Given the description of an element on the screen output the (x, y) to click on. 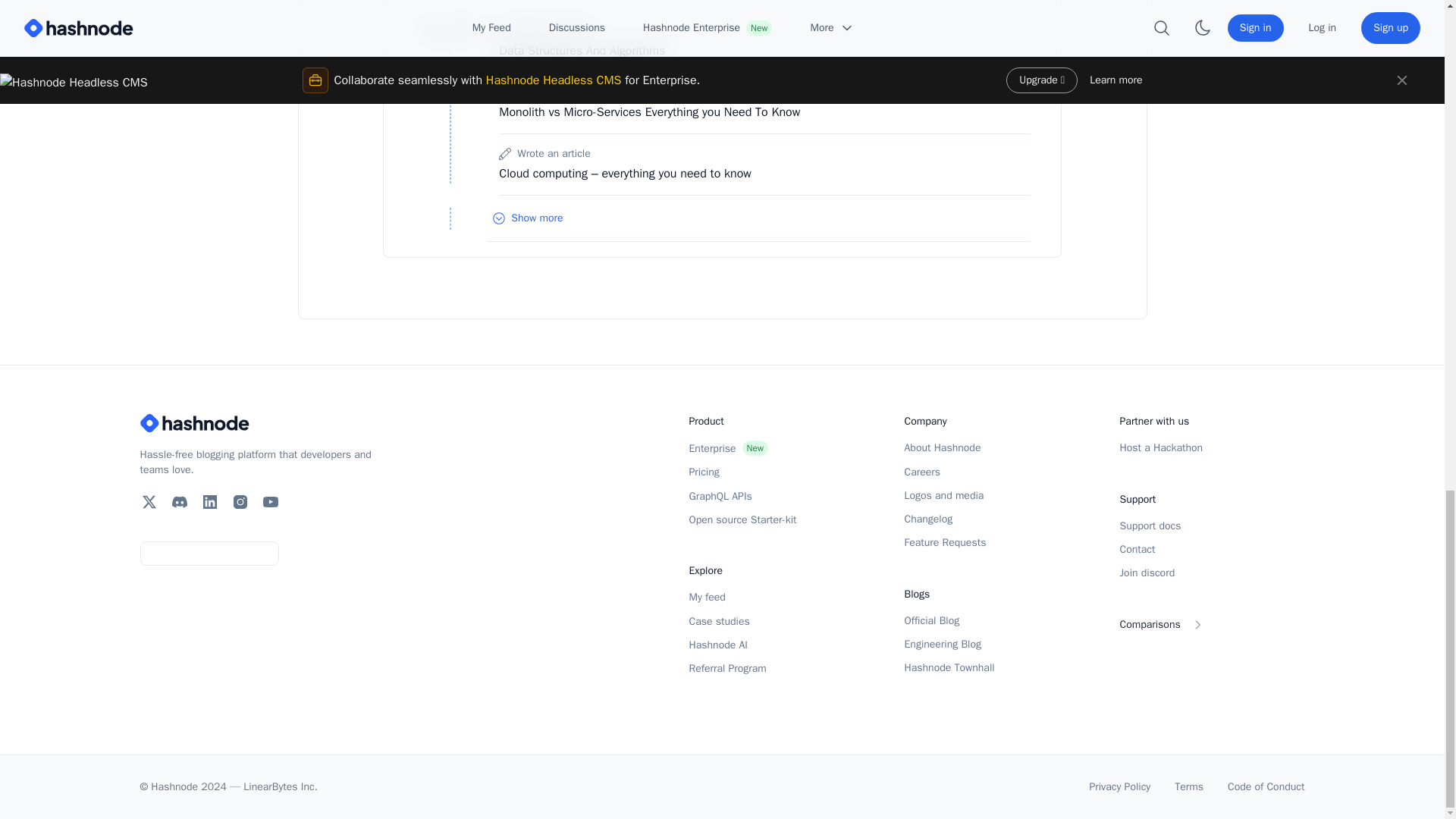
Show more (757, 218)
status (211, 553)
Data Structures And Algorithms (582, 50)
Hashnode (260, 423)
Monolith vs Micro-Services Everything you Need To Know (649, 111)
